Given the description of an element on the screen output the (x, y) to click on. 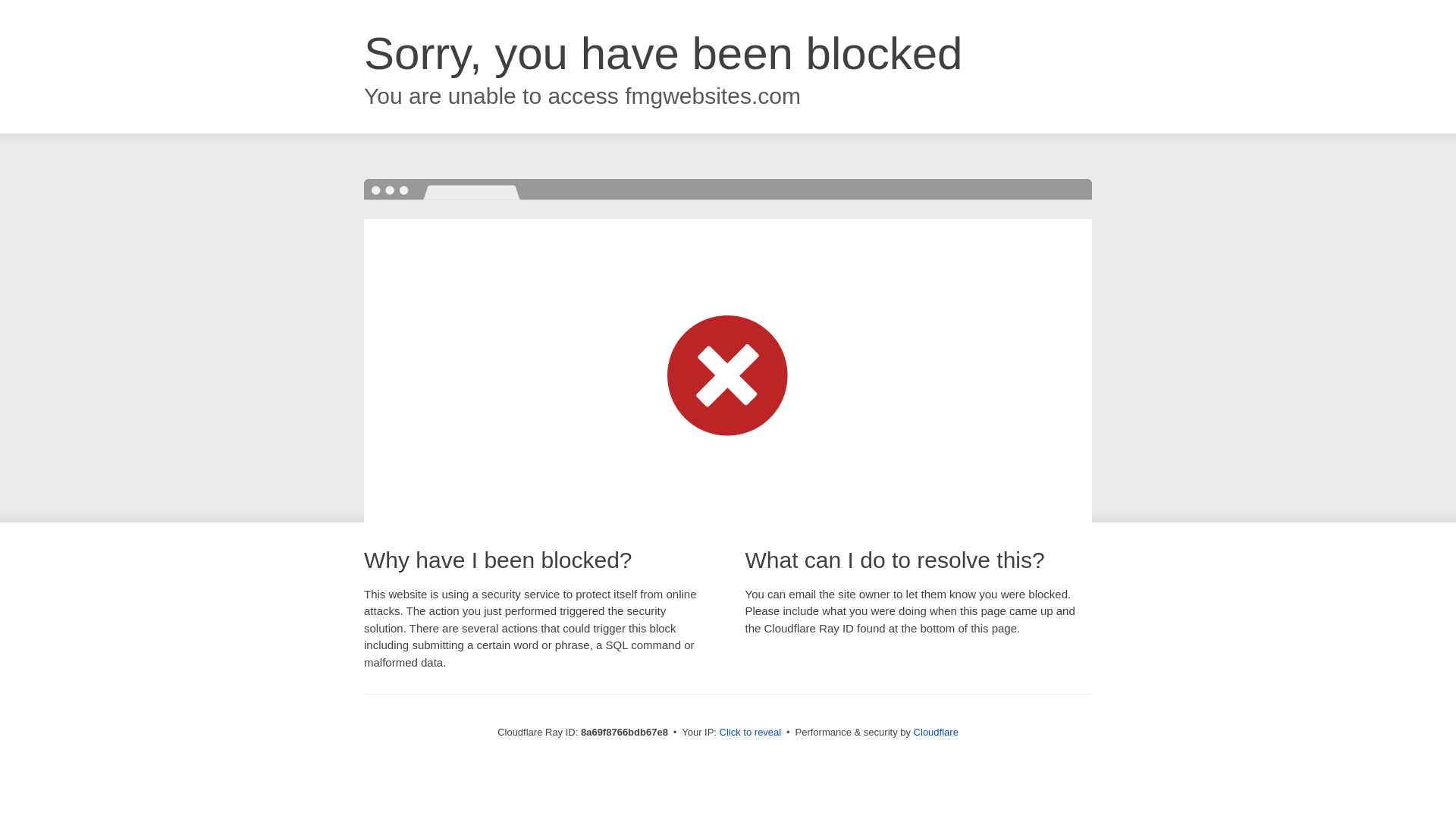
Click to reveal (750, 732)
Cloudflare (936, 731)
